Given the description of an element on the screen output the (x, y) to click on. 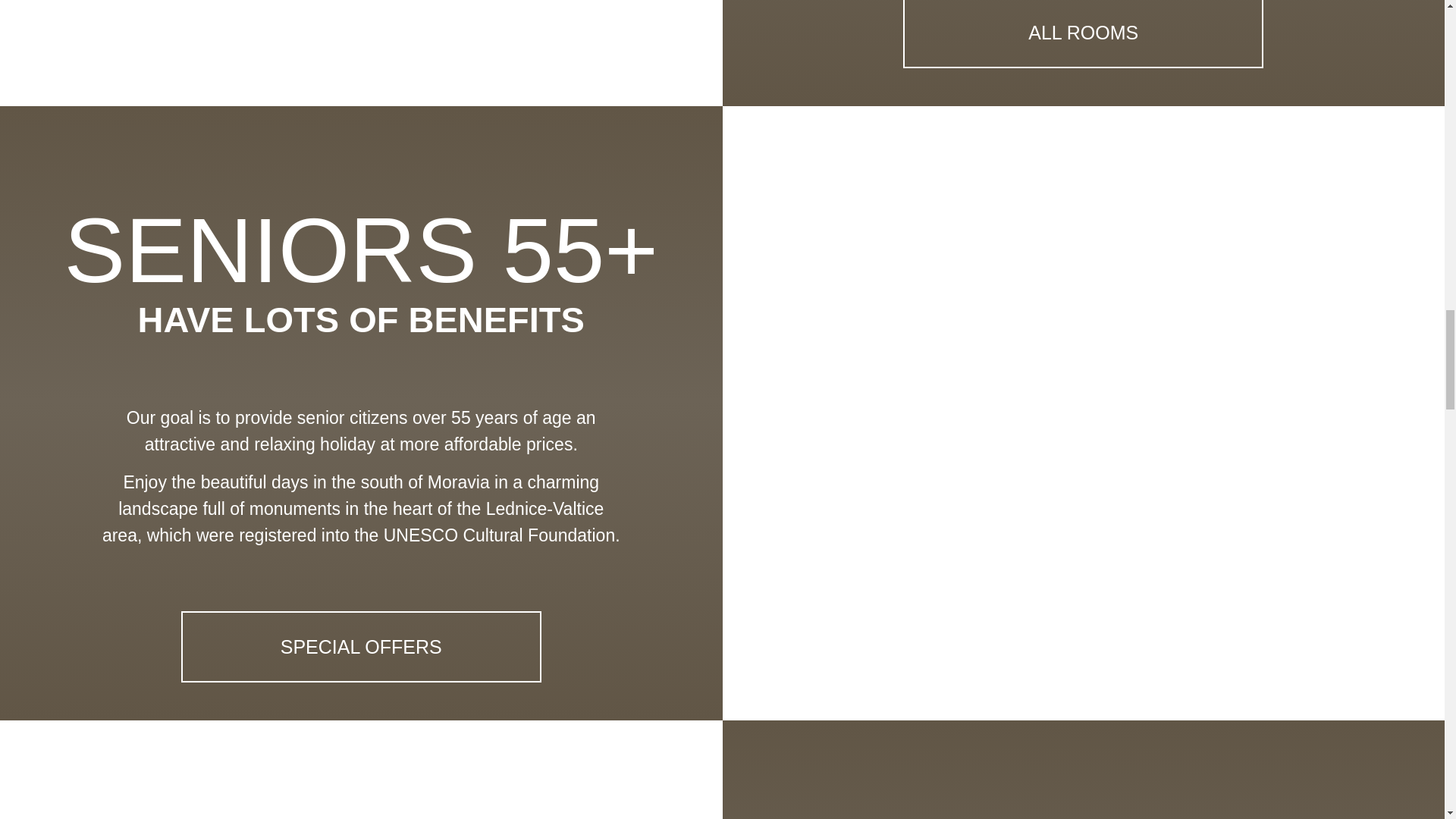
Pokoje penzionu (1082, 33)
SPECIAL OFFERS (360, 646)
ALL ROOMS (1082, 33)
